Given the description of an element on the screen output the (x, y) to click on. 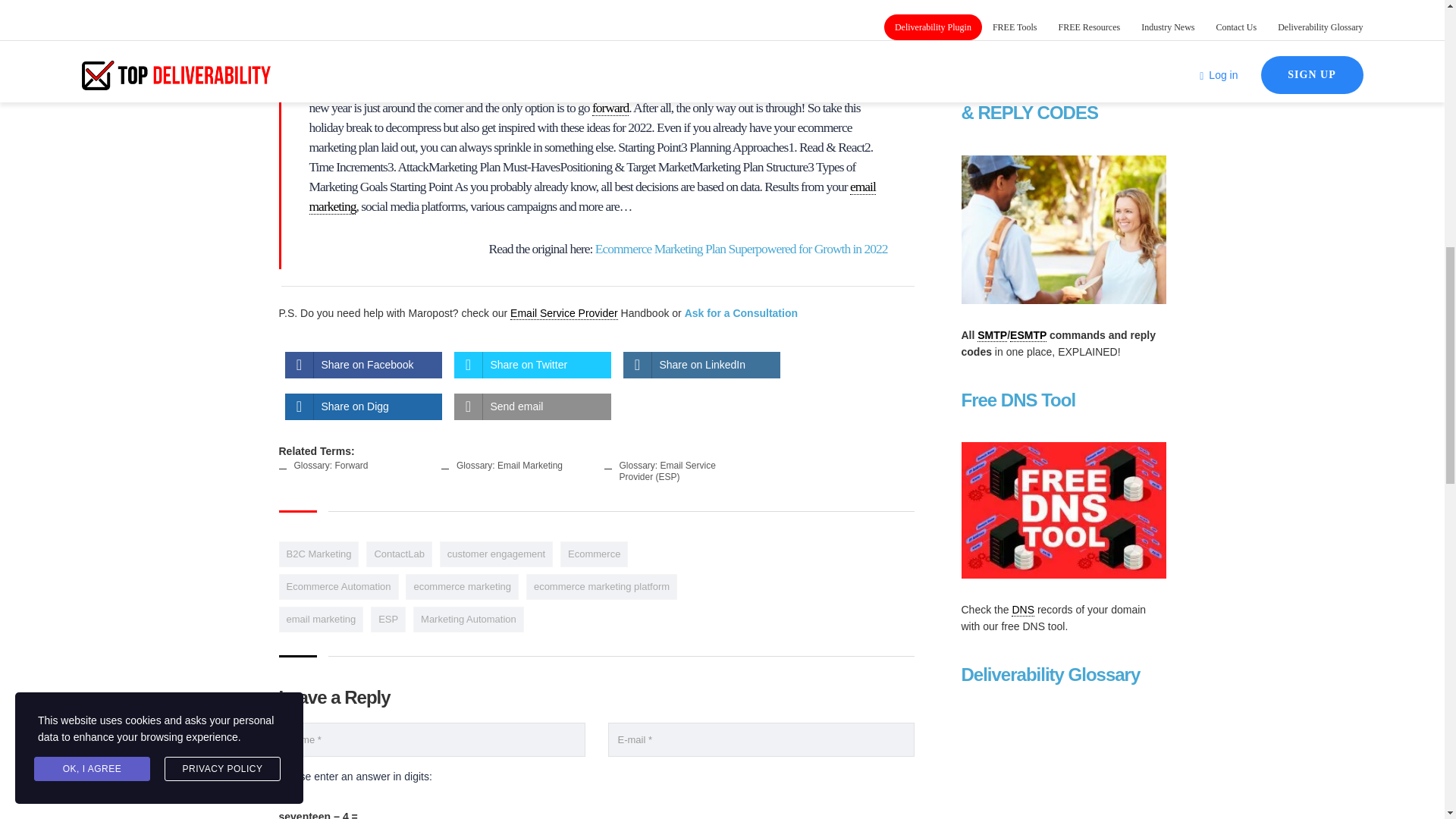
Share on Facebook (363, 365)
Share on Twitter (531, 365)
Share it on Email (531, 406)
Share on LinkedIn (701, 365)
Ecommerce Marketing Plan Superpowered for Growth in 2022 (741, 248)
Share on Digg (363, 406)
